Given the description of an element on the screen output the (x, y) to click on. 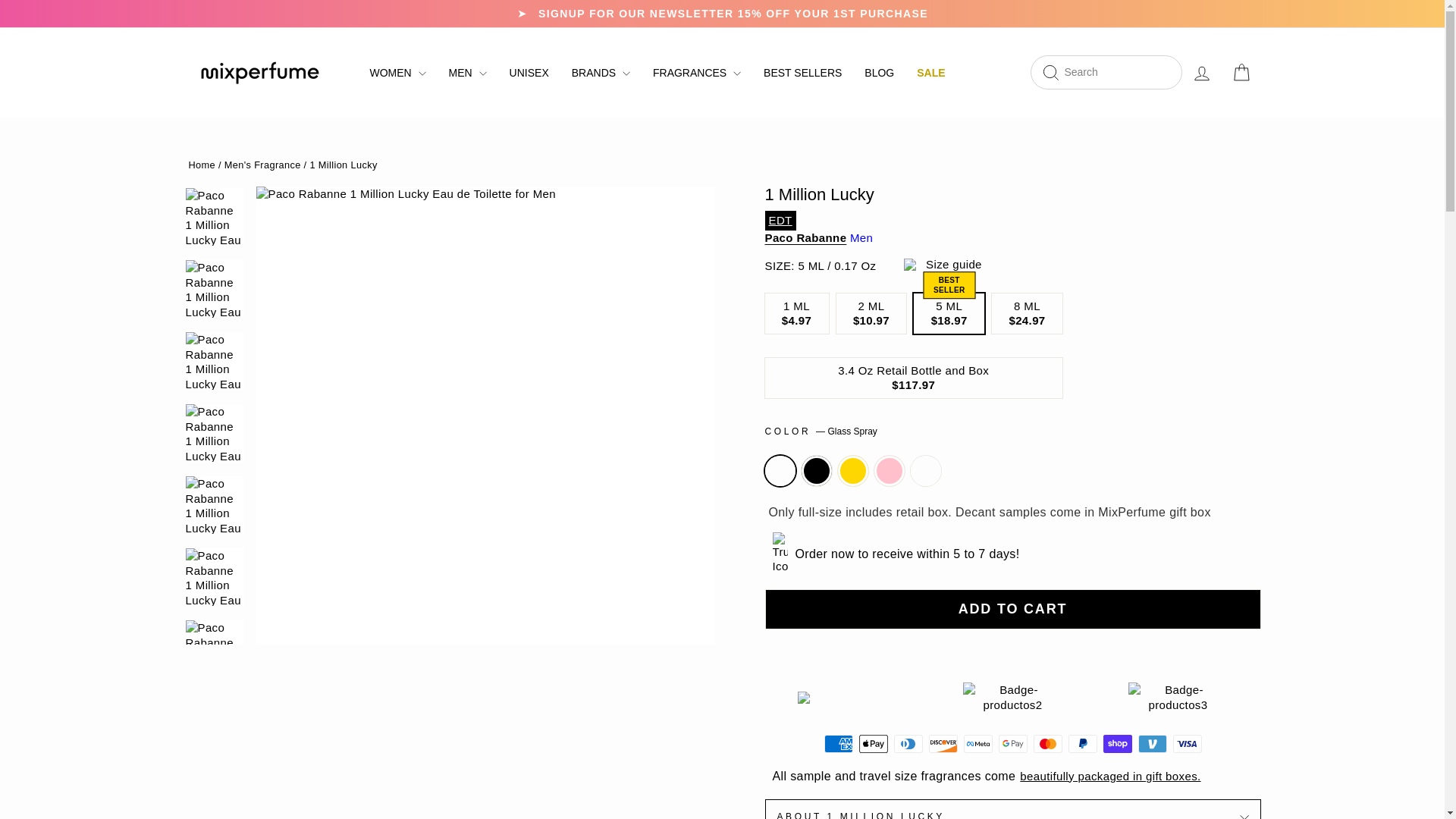
American Express (837, 743)
Back to the frontpage (201, 164)
Discover (942, 743)
Meta Pay (976, 743)
Apple Pay (872, 743)
Mastercard (1046, 743)
Google Pay (1011, 743)
